Given the description of an element on the screen output the (x, y) to click on. 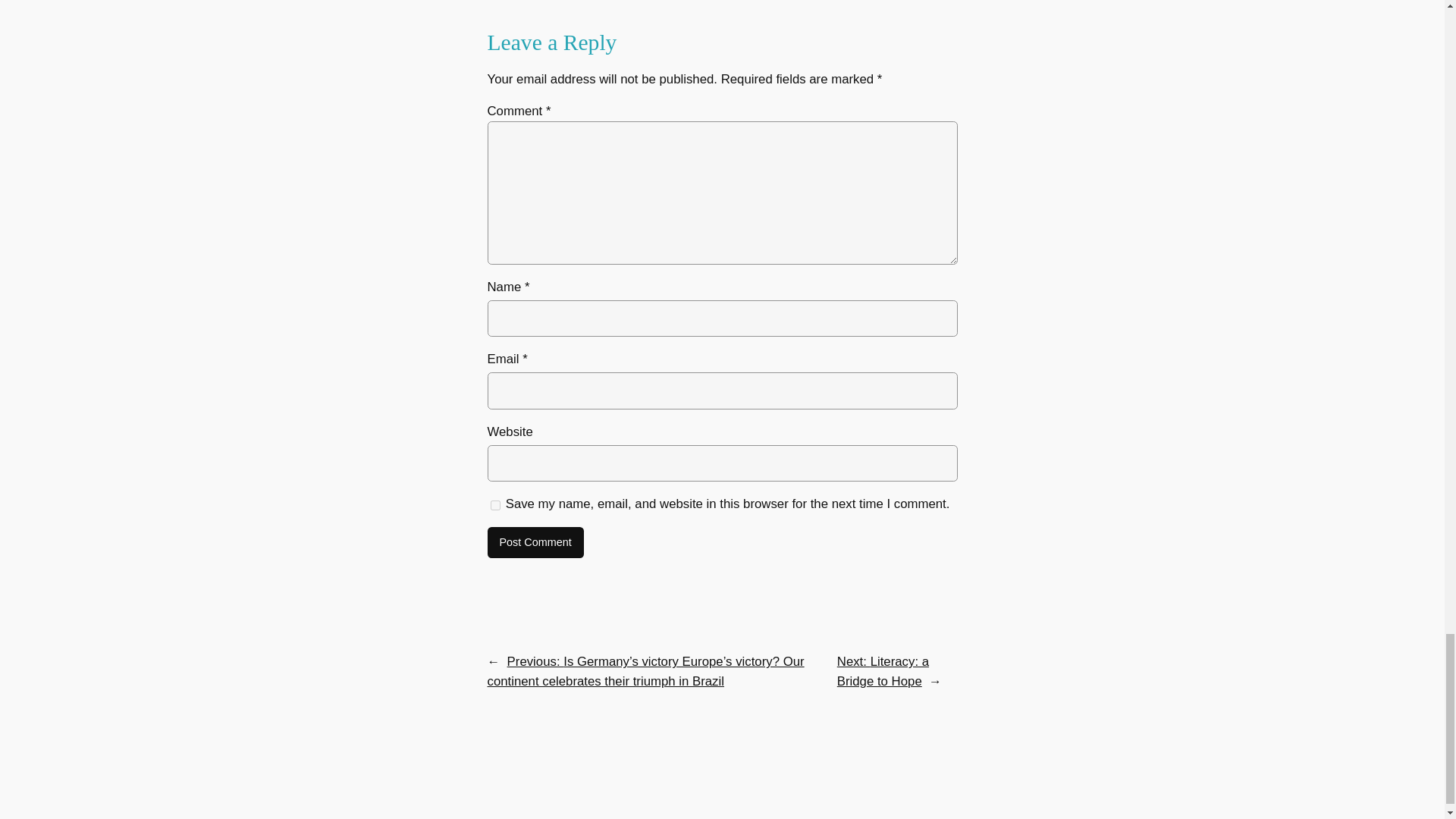
Post Comment (534, 542)
Post Comment (534, 542)
Next: Literacy: a Bridge to Hope (882, 671)
